Given the description of an element on the screen output the (x, y) to click on. 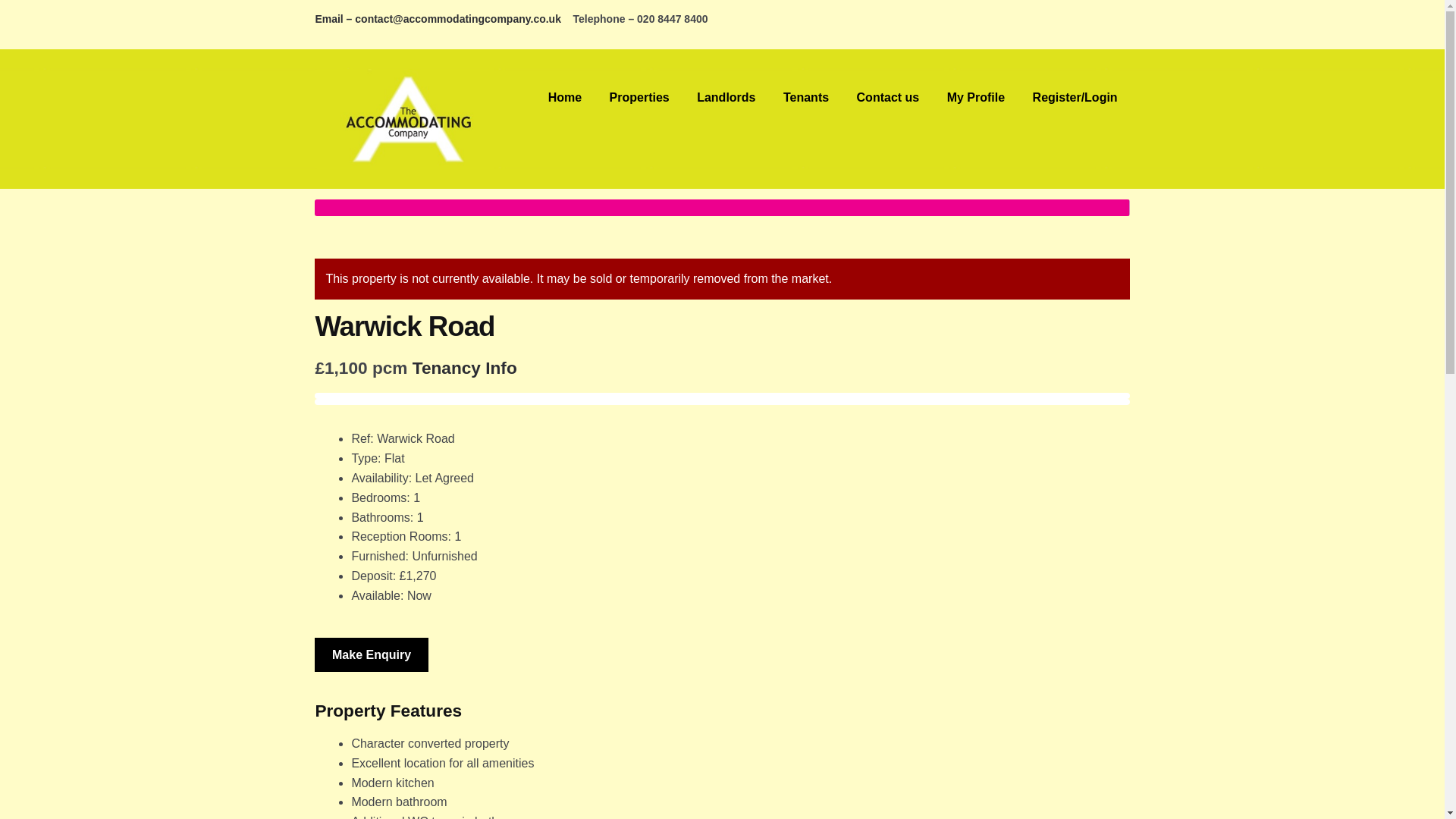
Home (564, 97)
Landlords (725, 97)
My Profile (975, 97)
Make Enquiry (371, 655)
Tenants (806, 97)
Contact us (887, 97)
Tenancy Info (464, 367)
OO (721, 207)
Properties (638, 97)
